Given the description of an element on the screen output the (x, y) to click on. 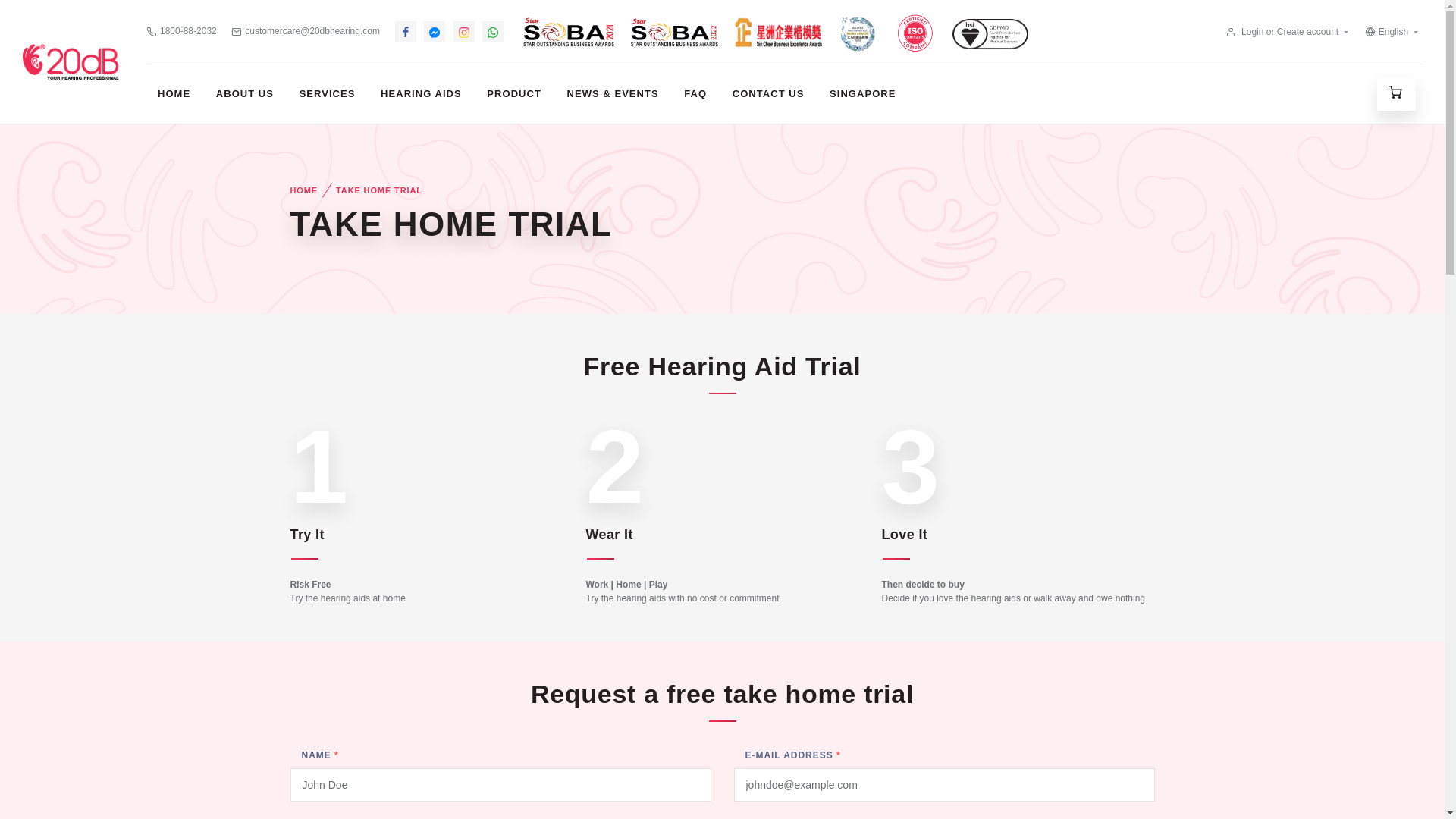
FAQ Element type: text (695, 93)
Login or Create account Element type: text (1281, 31)
PRODUCT Element type: text (513, 93)
TAKE HOME TRIAL Element type: text (378, 189)
customercare@20dbhearing.com Element type: text (305, 30)
1800-88-2032 Element type: text (181, 30)
HOME Element type: text (173, 93)
SERVICES Element type: text (327, 93)
CONTACT US Element type: text (768, 93)
NEWS & EVENTS Element type: text (612, 93)
ABOUT US Element type: text (244, 93)
HEARING AIDS Element type: text (421, 93)
SINGAPORE Element type: text (862, 93)
HOME Element type: text (303, 189)
English Element type: text (1386, 31)
